Given the description of an element on the screen output the (x, y) to click on. 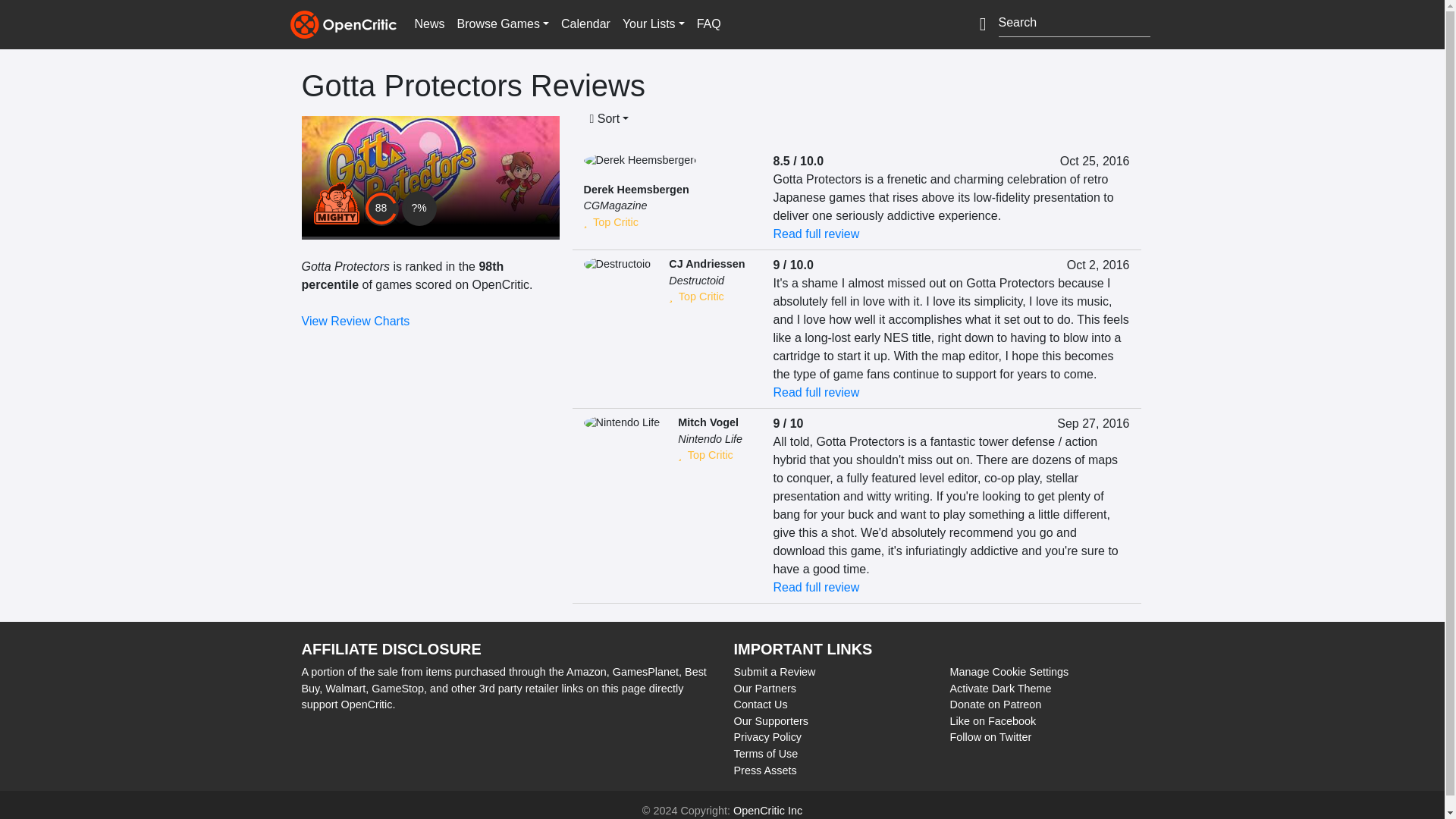
News (428, 24)
FAQ (708, 24)
CGMagazine (615, 205)
CJ Andriessen (706, 263)
Mitch Vogel (708, 422)
View Review Charts (355, 320)
Browse Games (502, 24)
Calendar (584, 24)
Destructoid (695, 280)
Your Lists (652, 24)
Derek Heemsbergen (635, 189)
Read full review (816, 391)
Nintendo Life (710, 439)
Read full review (816, 233)
